Given the description of an element on the screen output the (x, y) to click on. 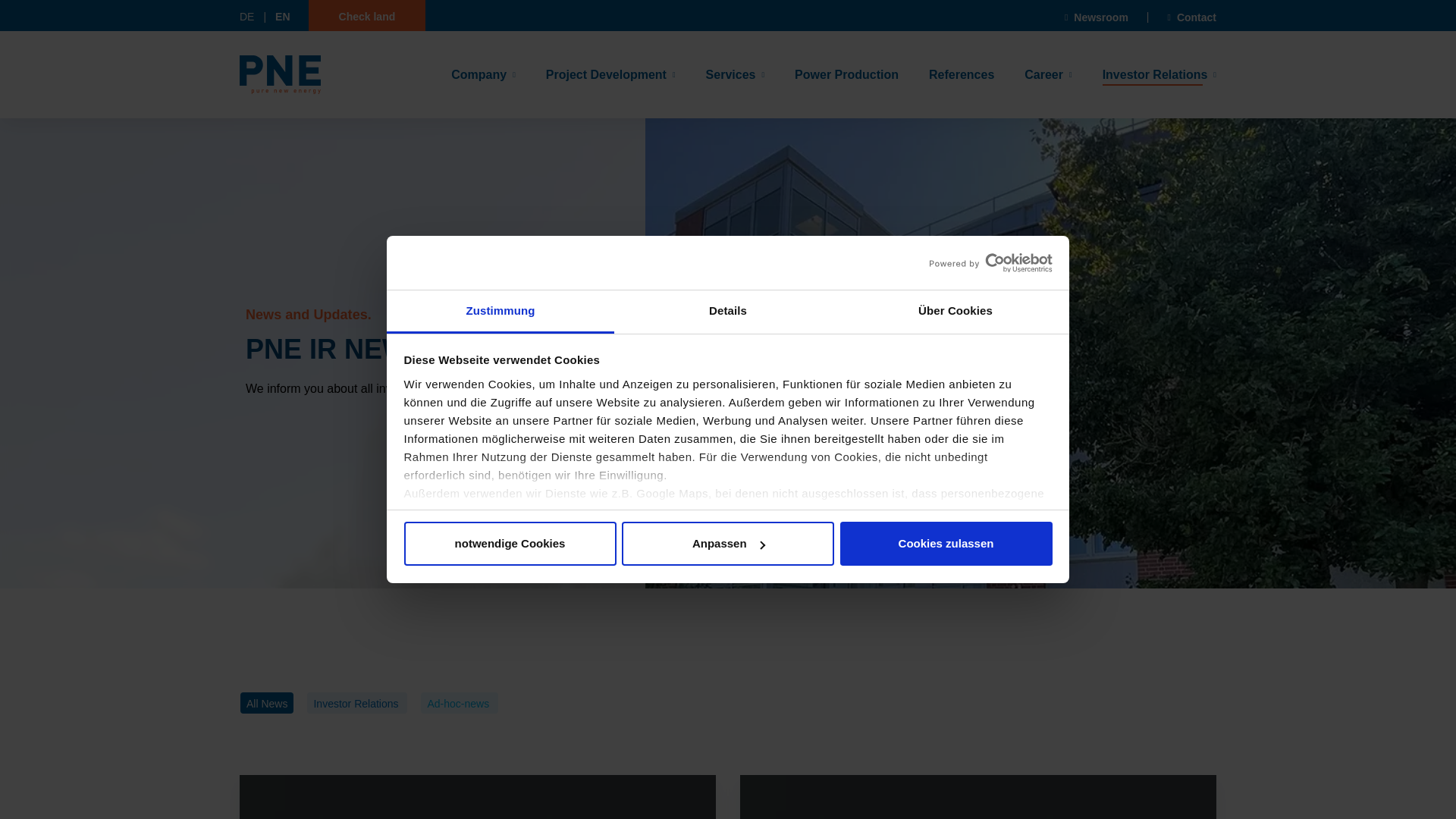
Investor Relations (356, 702)
Anpassen (727, 543)
Details (727, 311)
Cookies zulassen (946, 543)
Impressum (435, 638)
Ad-hoc-news (459, 702)
Zustimmung (500, 311)
notwendige Cookies (509, 543)
Homepage (280, 74)
PNE AG: General meeting of shareholders approves dividend (977, 796)
